Given the description of an element on the screen output the (x, y) to click on. 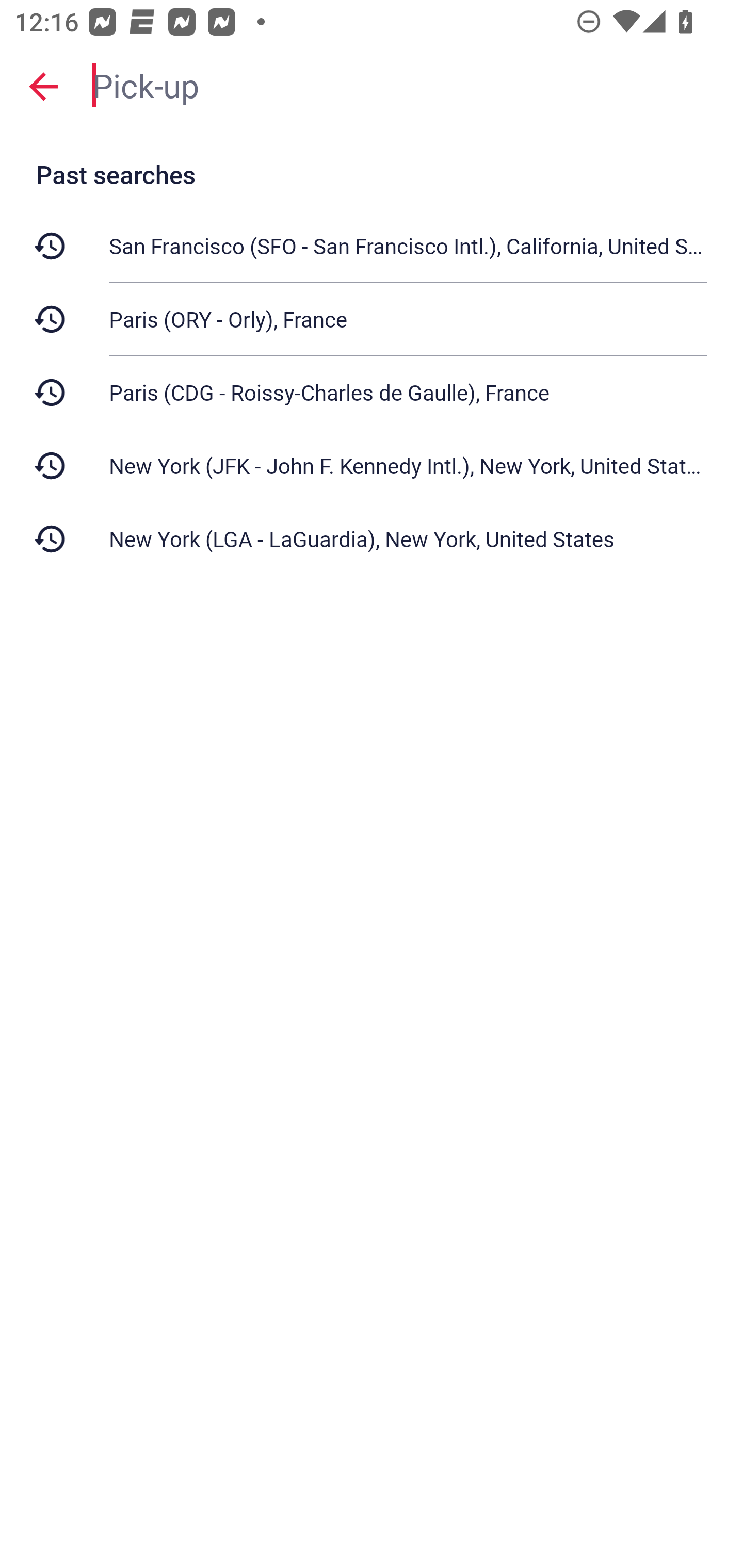
Pick-up,  (407, 85)
Close search screen (43, 86)
